Given the description of an element on the screen output the (x, y) to click on. 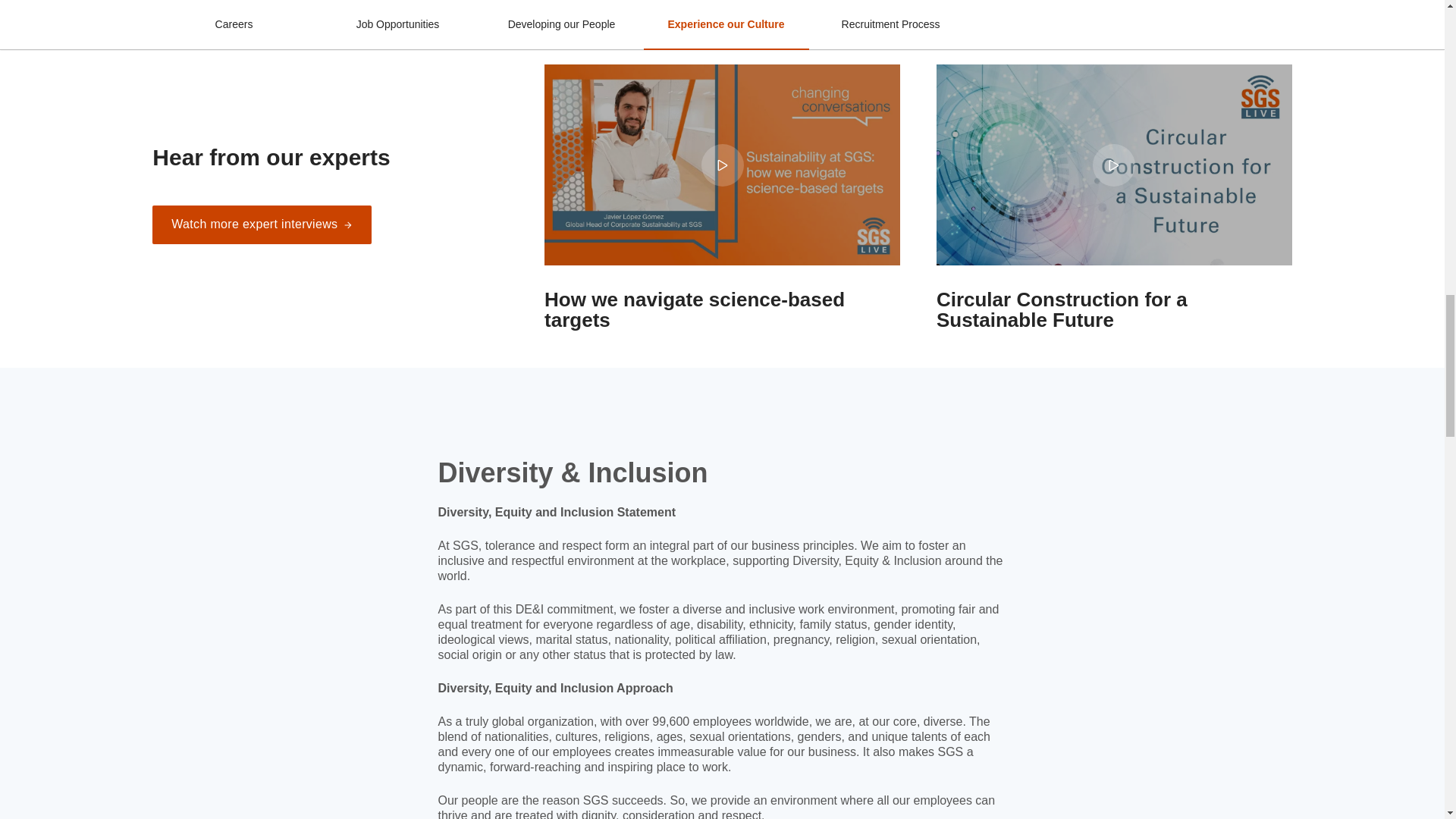
Play (722, 164)
Watch more expert interviews (261, 224)
